Given the description of an element on the screen output the (x, y) to click on. 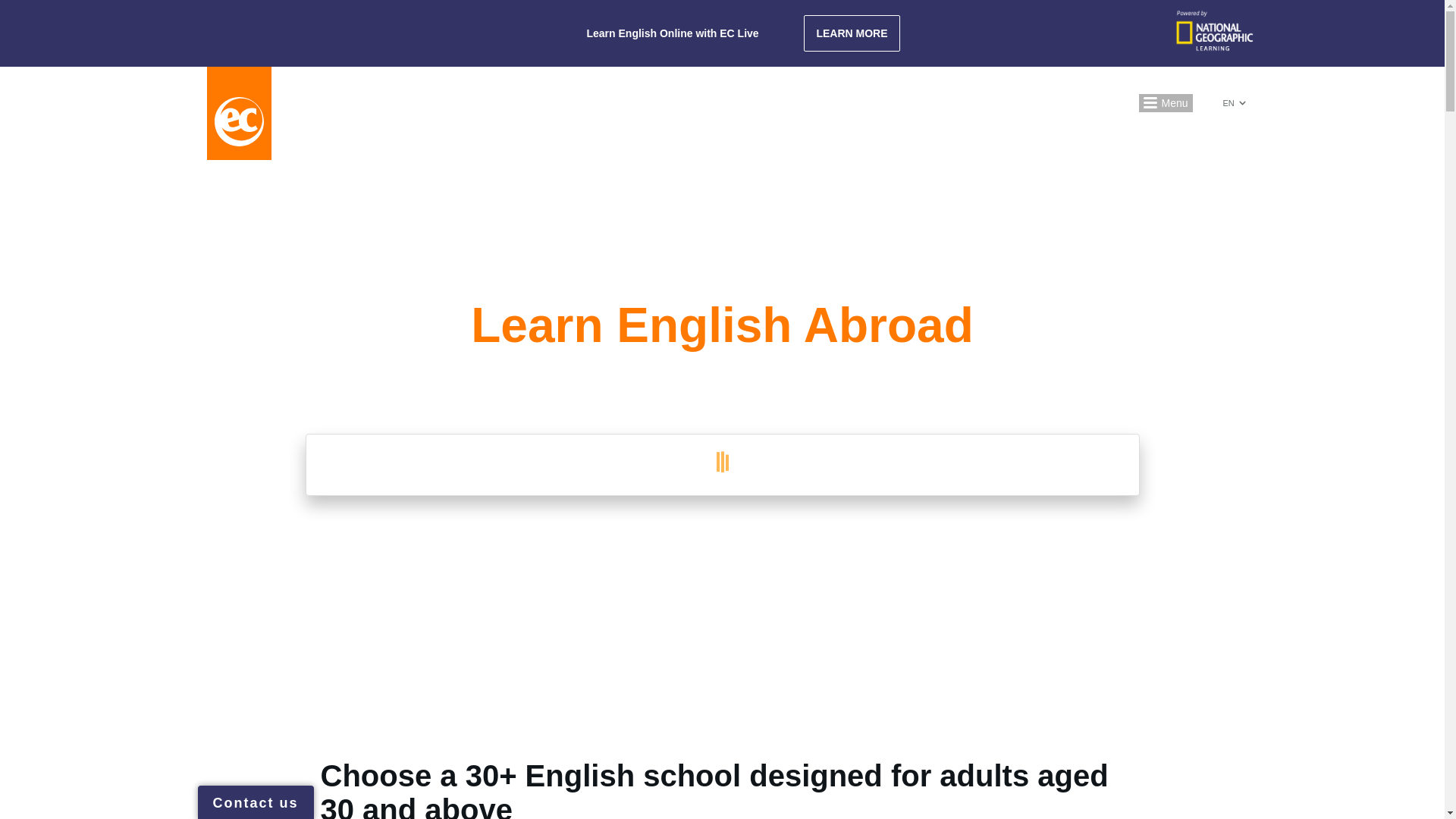
Destinations (566, 103)
Language Vacations (764, 103)
Sign in (973, 103)
Young Learners (885, 103)
Contact Us (1050, 103)
Menu (1165, 103)
LEARN MORE (851, 33)
Contact us (254, 802)
English Courses (461, 103)
Scroll (721, 601)
Learn English Online with EC Live (672, 32)
EN (1233, 103)
EC English Logo (238, 112)
